Given the description of an element on the screen output the (x, y) to click on. 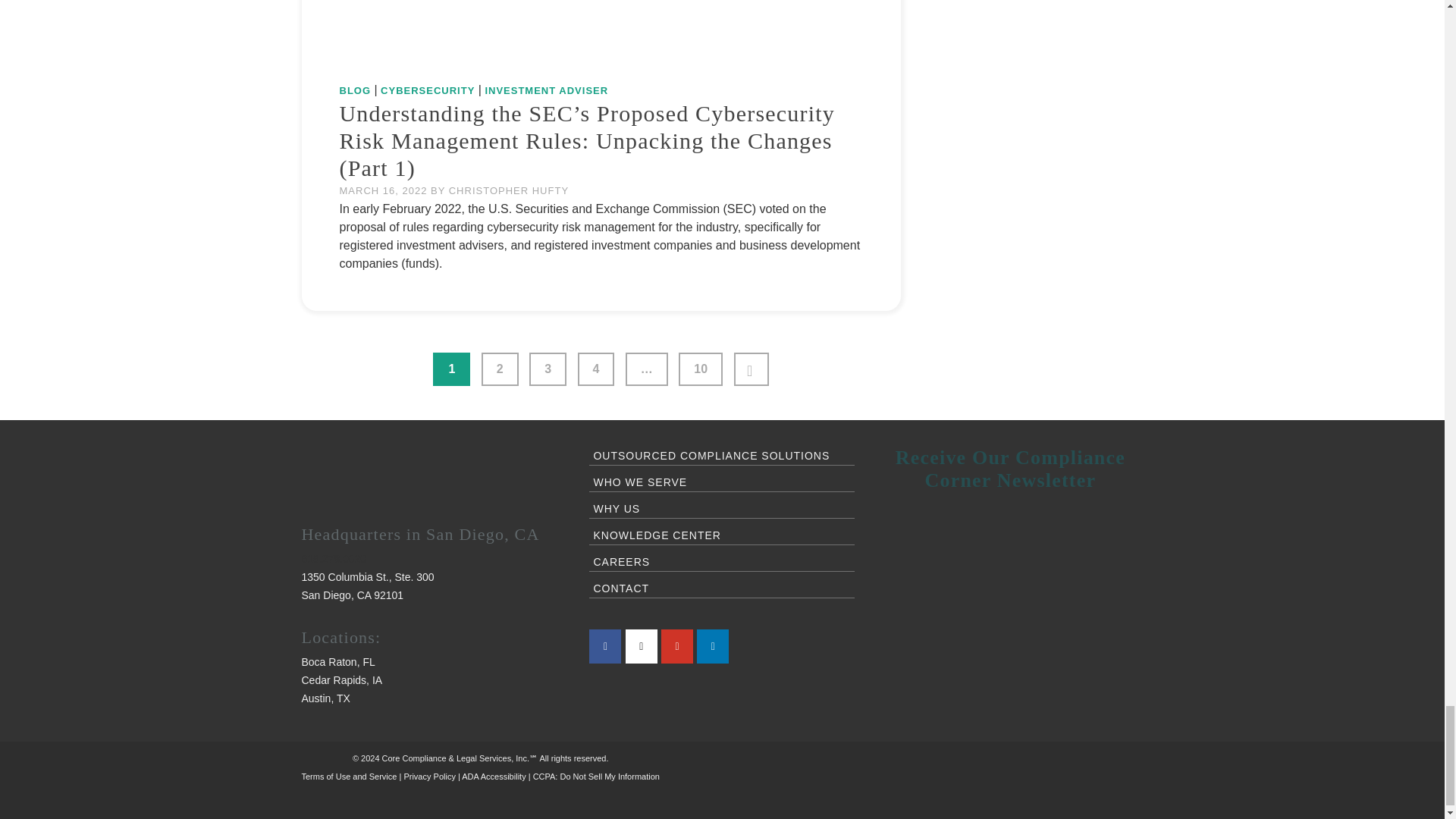
Core Compliance on Youtube (677, 646)
Core Compliance on Facebook (605, 646)
Core Compliance on X Twitter (642, 646)
Core Compliance on Linkedin (713, 646)
